Given the description of an element on the screen output the (x, y) to click on. 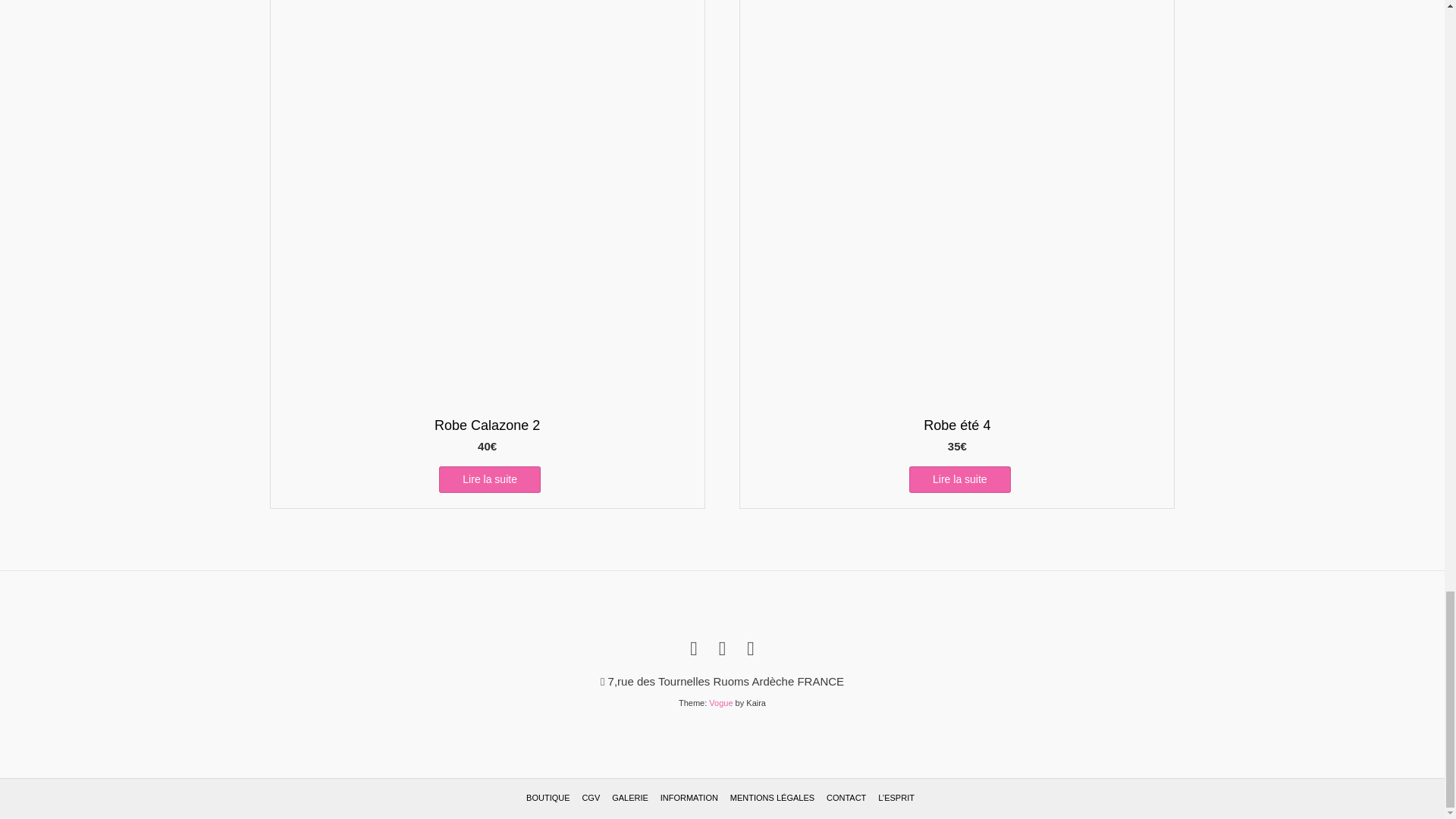
Find Us on Facebook (722, 649)
Lire la suite (959, 479)
Send Us an Email (693, 649)
BOUTIQUE (547, 797)
Vogue (720, 702)
Find Us on LinkedIn (750, 649)
CGV (590, 797)
Lire la suite (489, 479)
